Given the description of an element on the screen output the (x, y) to click on. 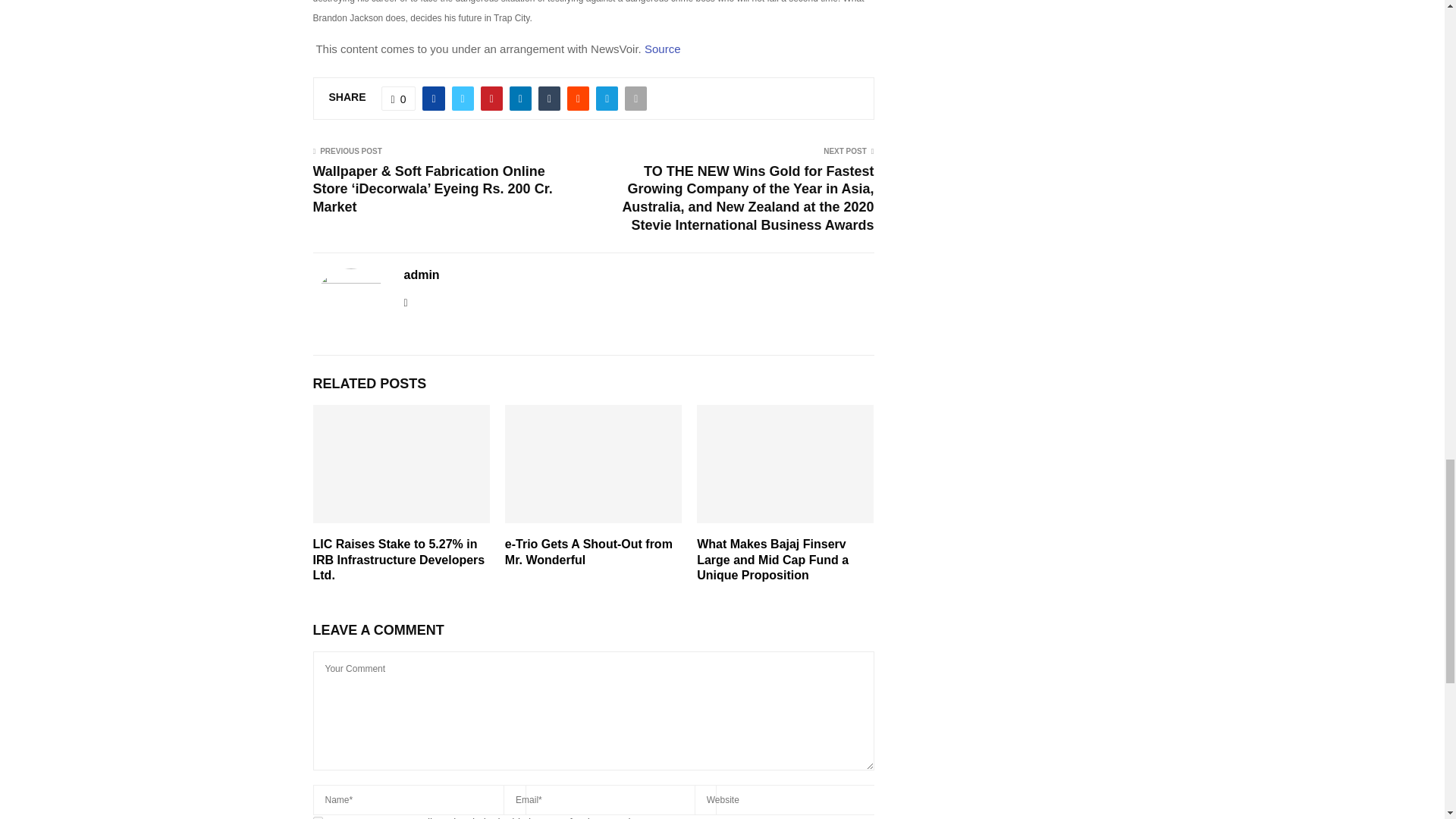
Like (398, 98)
